Given the description of an element on the screen output the (x, y) to click on. 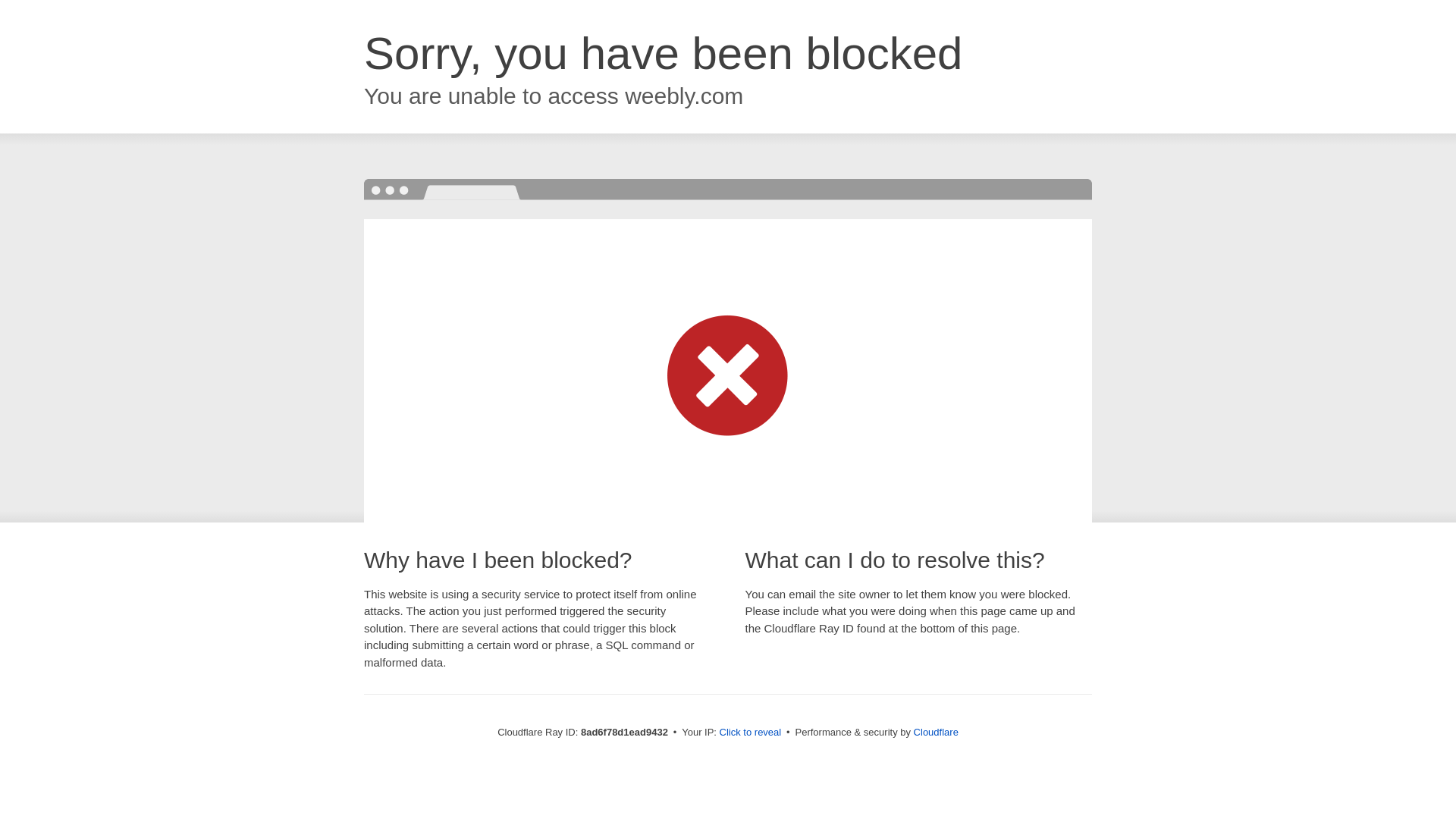
Click to reveal (750, 732)
Cloudflare (936, 731)
